Given the description of an element on the screen output the (x, y) to click on. 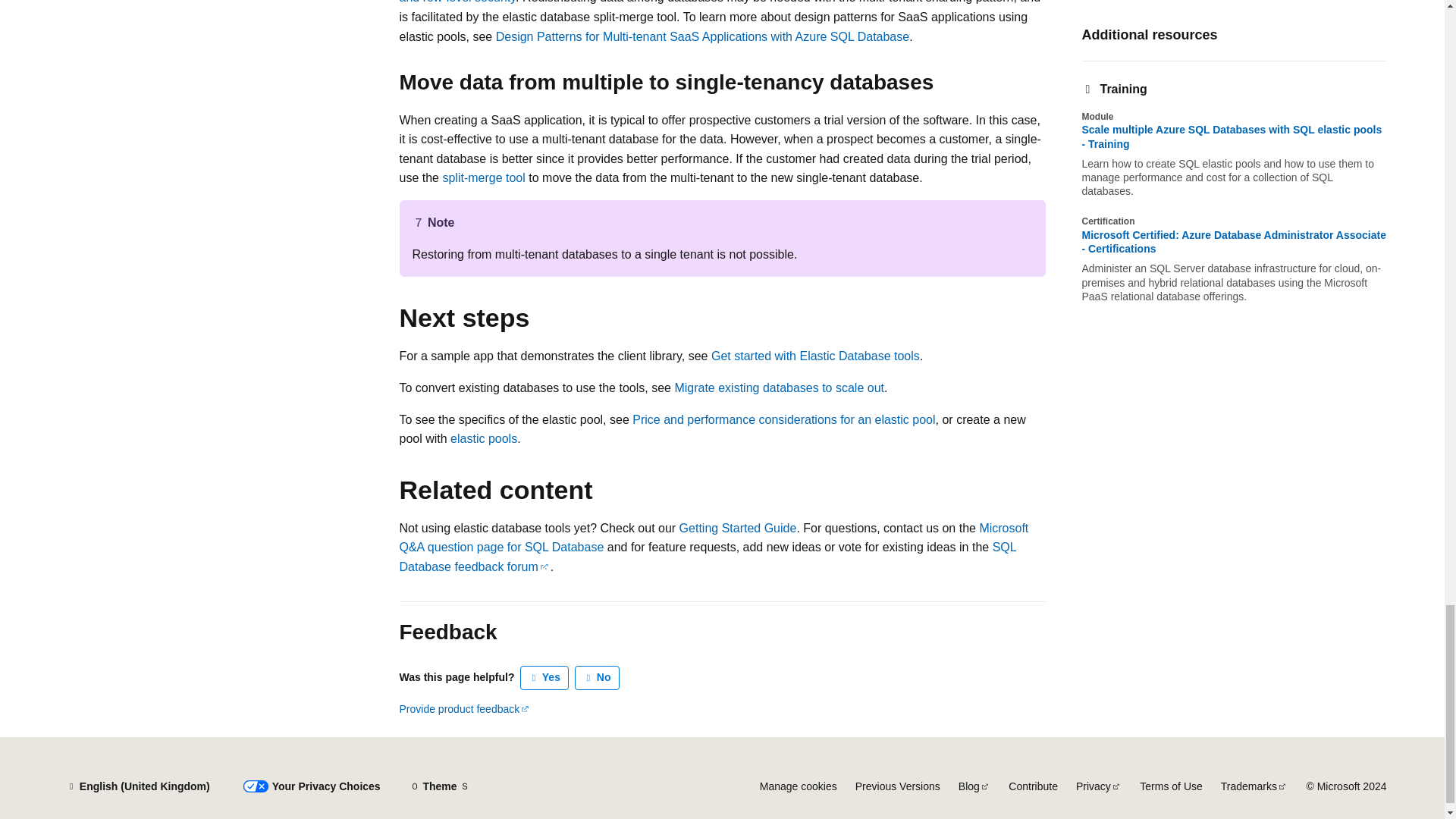
Theme (440, 785)
This article is helpful (544, 677)
This article is not helpful (597, 677)
